Given the description of an element on the screen output the (x, y) to click on. 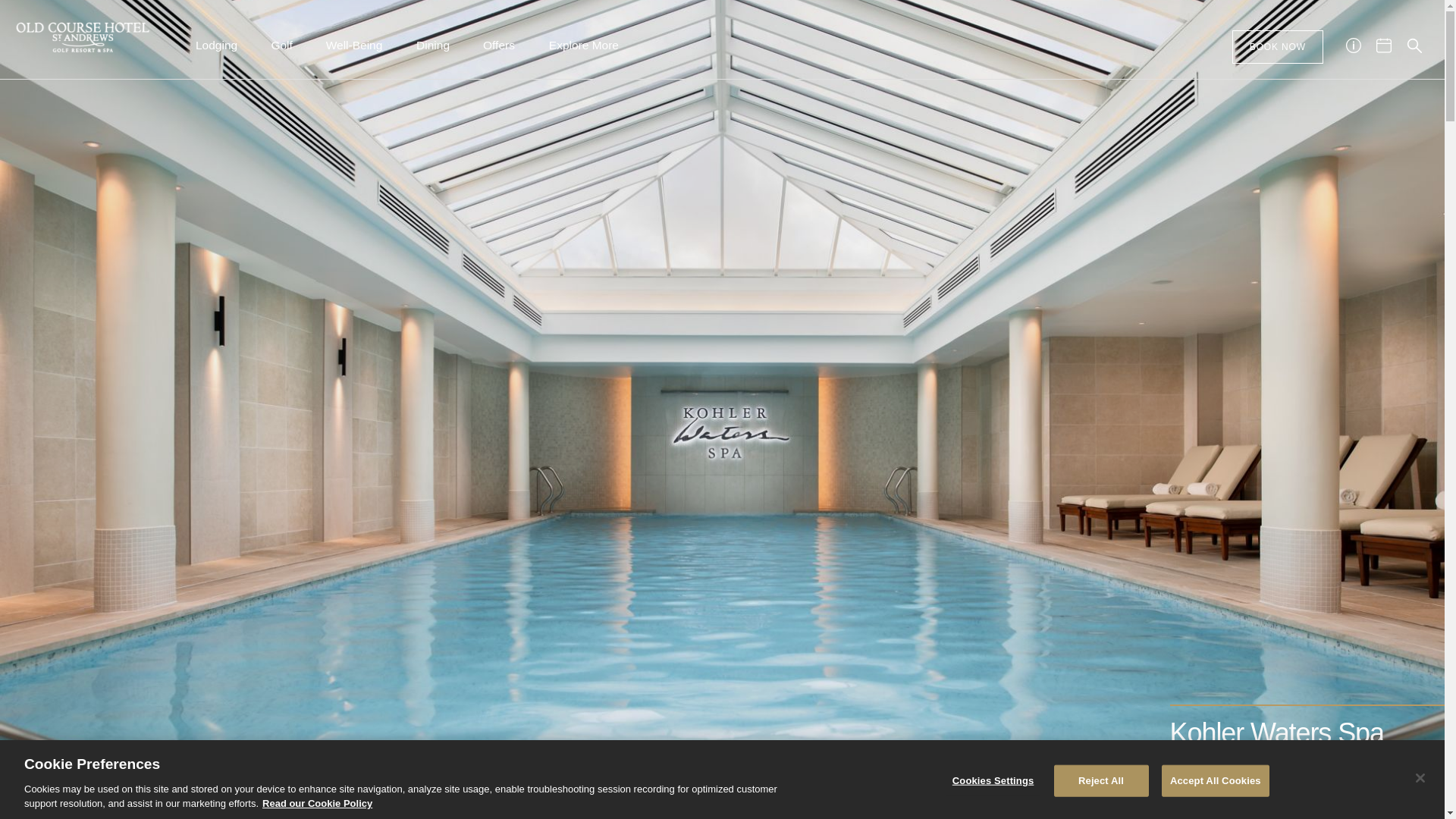
Dining (431, 52)
Golf (281, 52)
Well-Being (353, 52)
Lodging (215, 52)
